Given the description of an element on the screen output the (x, y) to click on. 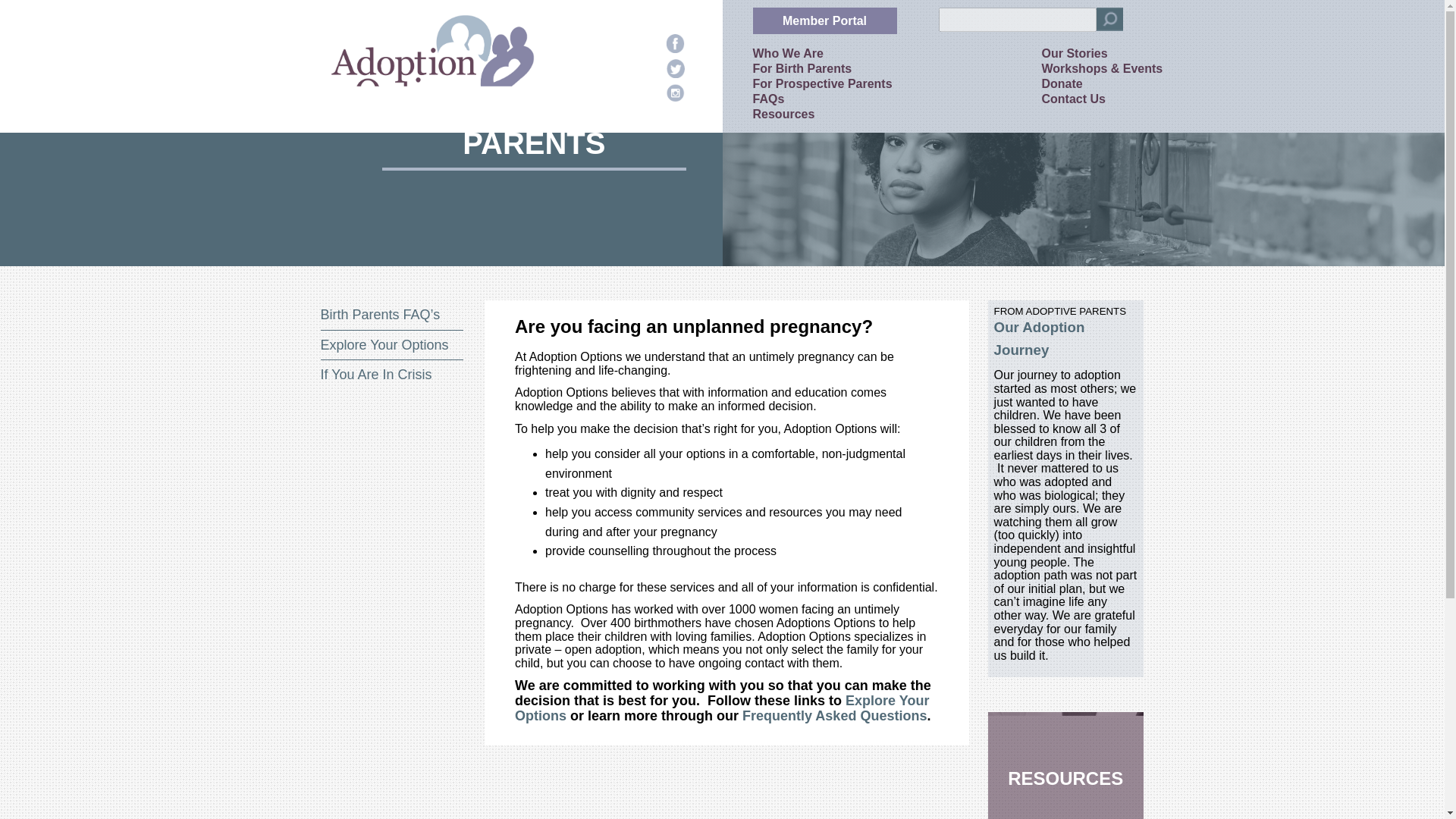
Contact Us (1073, 98)
RESOURCES (1065, 765)
For Prospective Parents (821, 83)
Our Stories (1075, 53)
Explore Your Options (721, 707)
FAQs (768, 98)
Member Portal (824, 20)
Frequently Asked Questions (834, 715)
Resources (782, 113)
For Birth Parents (801, 68)
Who We Are (787, 53)
Search for: (1017, 19)
Our Adoption Journey (1039, 338)
If You Are In Crisis (375, 374)
Explore Your Options (384, 344)
